Given the description of an element on the screen output the (x, y) to click on. 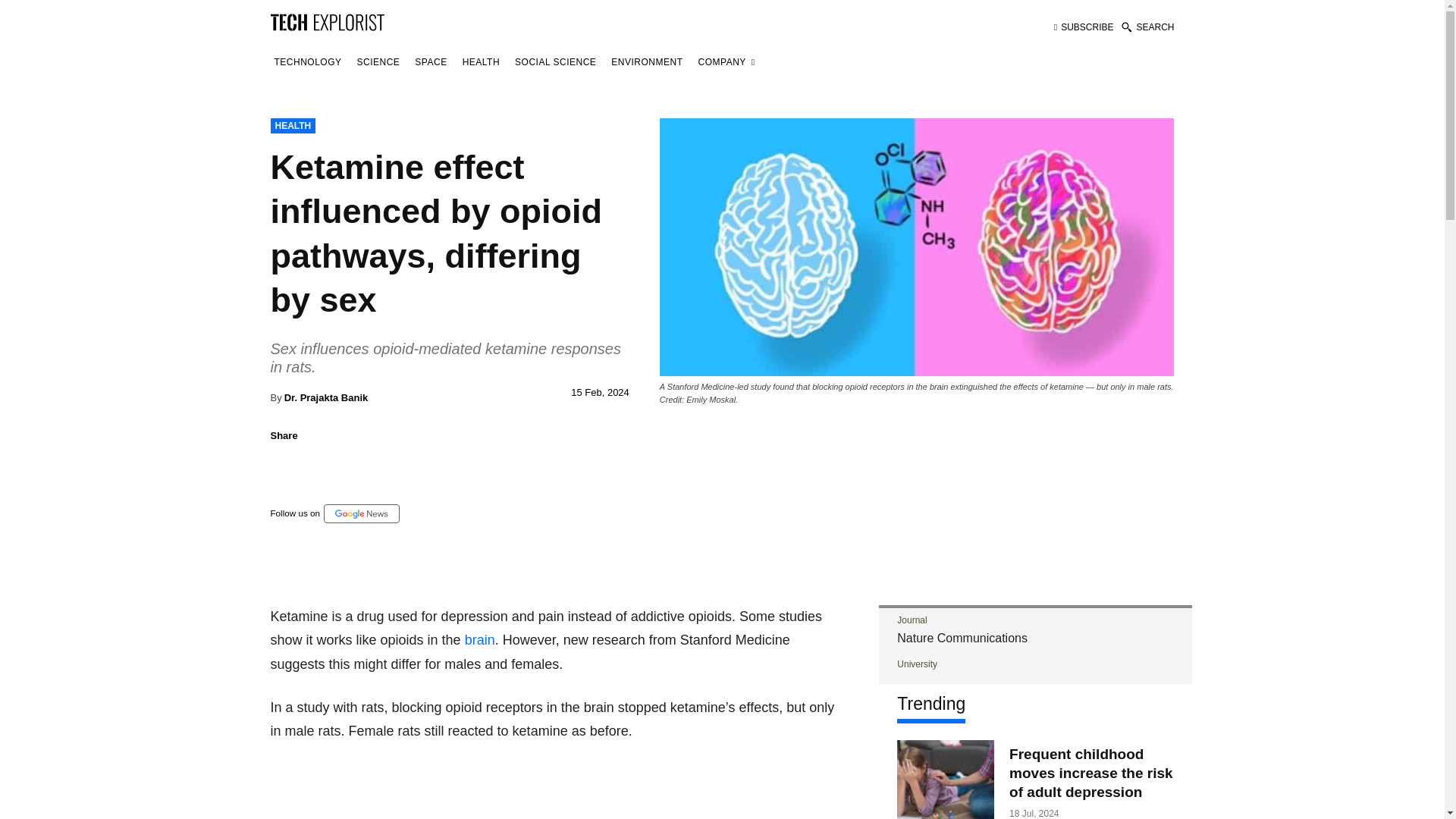
HEALTH (292, 125)
Dr. Prajakta Banik (325, 397)
TECHNOLOGY (307, 62)
SUBSCRIBE (1083, 26)
SPACE (429, 62)
ENVIRONMENT (646, 62)
SEARCH (1147, 26)
Tech Explorist (326, 21)
SCIENCE (378, 62)
brain (479, 639)
Technology (307, 62)
Ketamine (916, 246)
Health (480, 62)
COMPANY (726, 62)
